Given the description of an element on the screen output the (x, y) to click on. 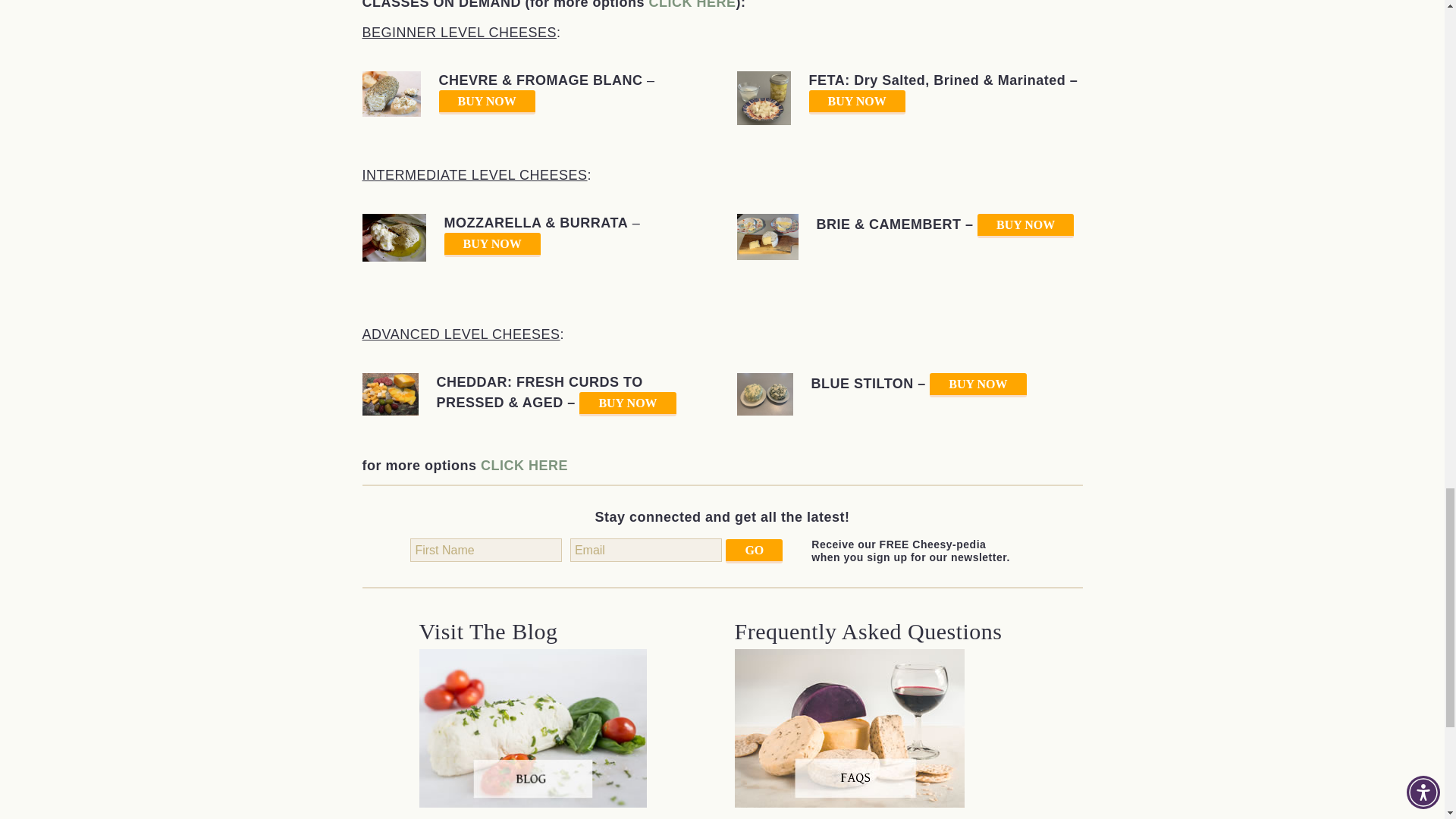
BUY NOW (856, 102)
BUY NOW (486, 102)
BUY NOW (492, 244)
GO (754, 550)
CLICK HERE (692, 4)
